Given the description of an element on the screen output the (x, y) to click on. 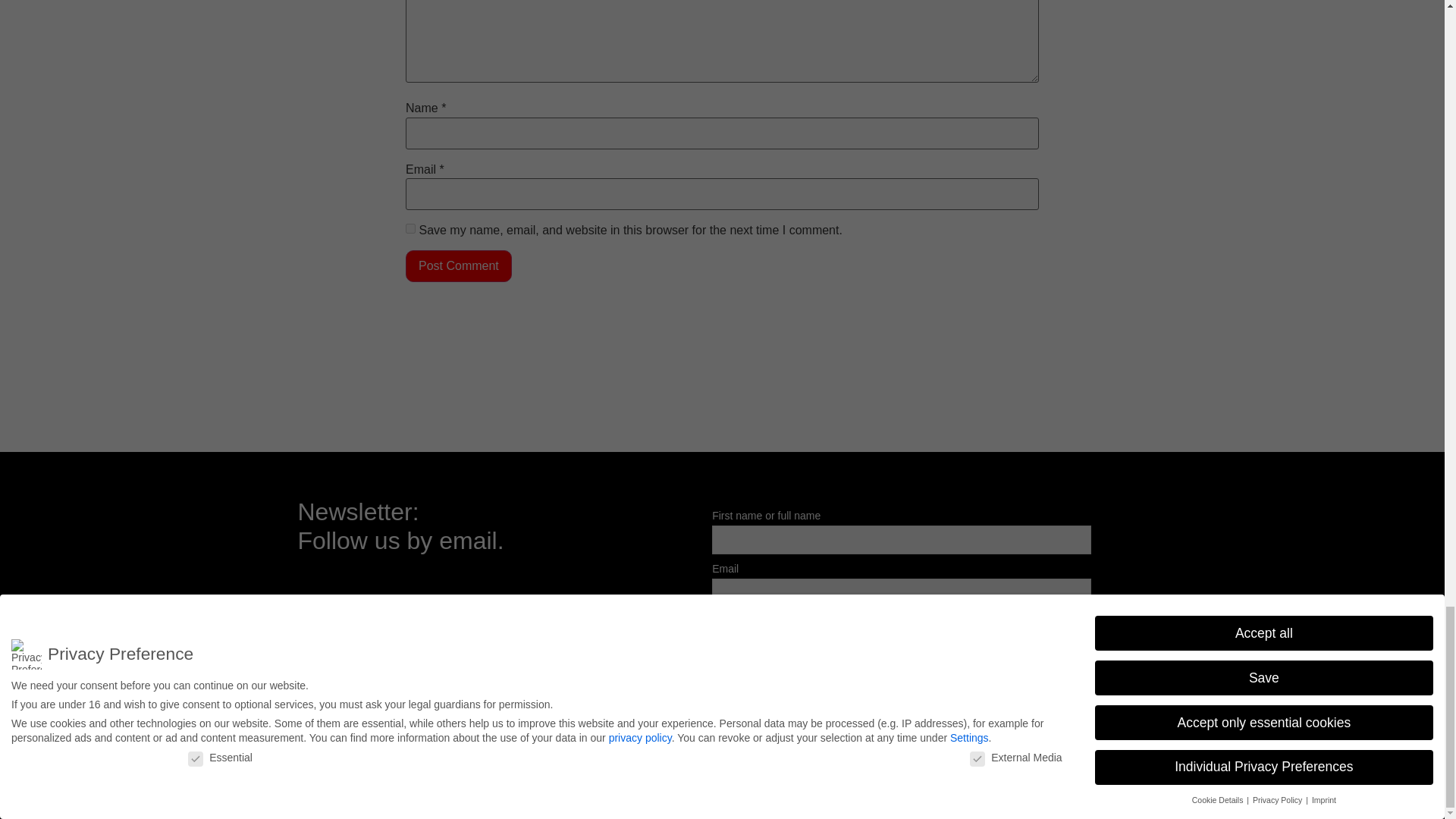
Subscribe (750, 654)
Post Comment (459, 265)
Imprint (1043, 763)
Subscribe (750, 654)
I accept the Privacy Statement (802, 621)
yes (410, 228)
Post Comment (459, 265)
on (716, 620)
Privacy Policy (1109, 763)
